Given the description of an element on the screen output the (x, y) to click on. 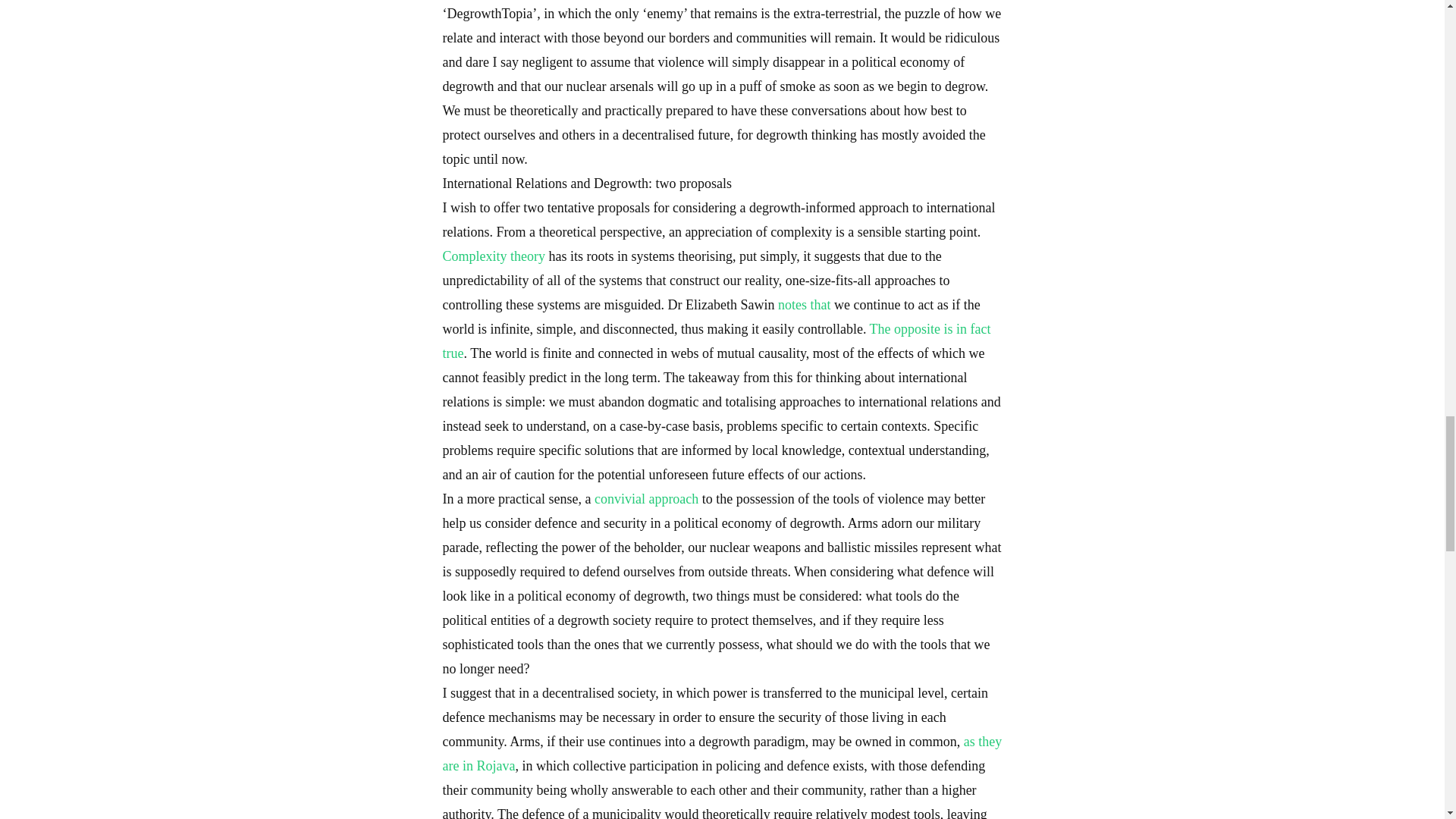
as they are in Rojava (722, 753)
The opposite is in fact true (716, 341)
Complexity theory (493, 255)
convivial approach (646, 498)
notes that (804, 304)
